Given the description of an element on the screen output the (x, y) to click on. 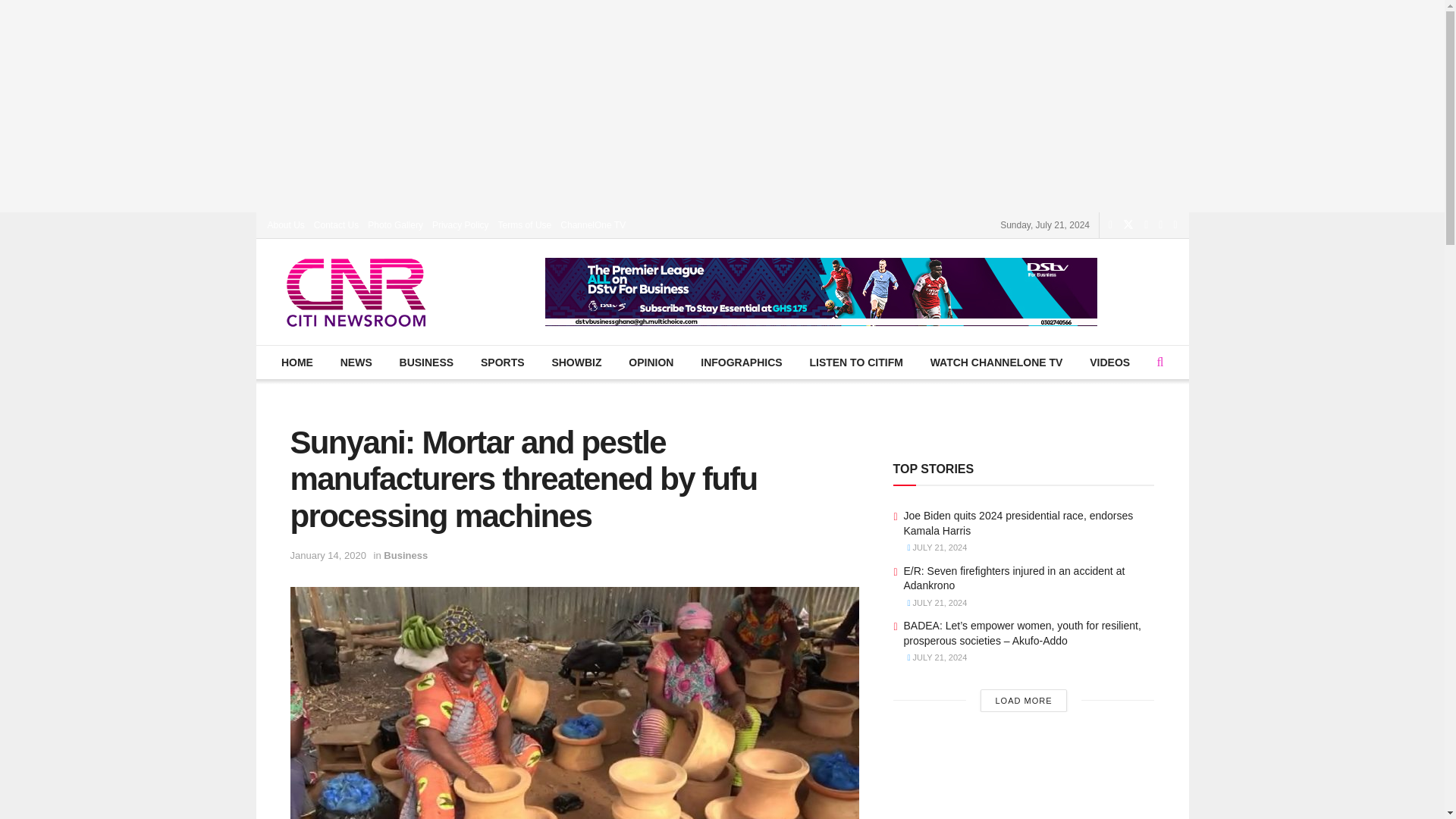
NEWS (355, 362)
Contact Us (336, 225)
About Us (285, 225)
Photo Gallery (395, 225)
WATCH CHANNELONE TV (996, 362)
BUSINESS (425, 362)
SPORTS (502, 362)
Terms of Use (524, 225)
OPINION (651, 362)
HOME (296, 362)
ChannelOne TV (593, 225)
INFOGRAPHICS (740, 362)
LISTEN TO CITIFM (855, 362)
Privacy Policy (460, 225)
VIDEOS (1109, 362)
